Given the description of an element on the screen output the (x, y) to click on. 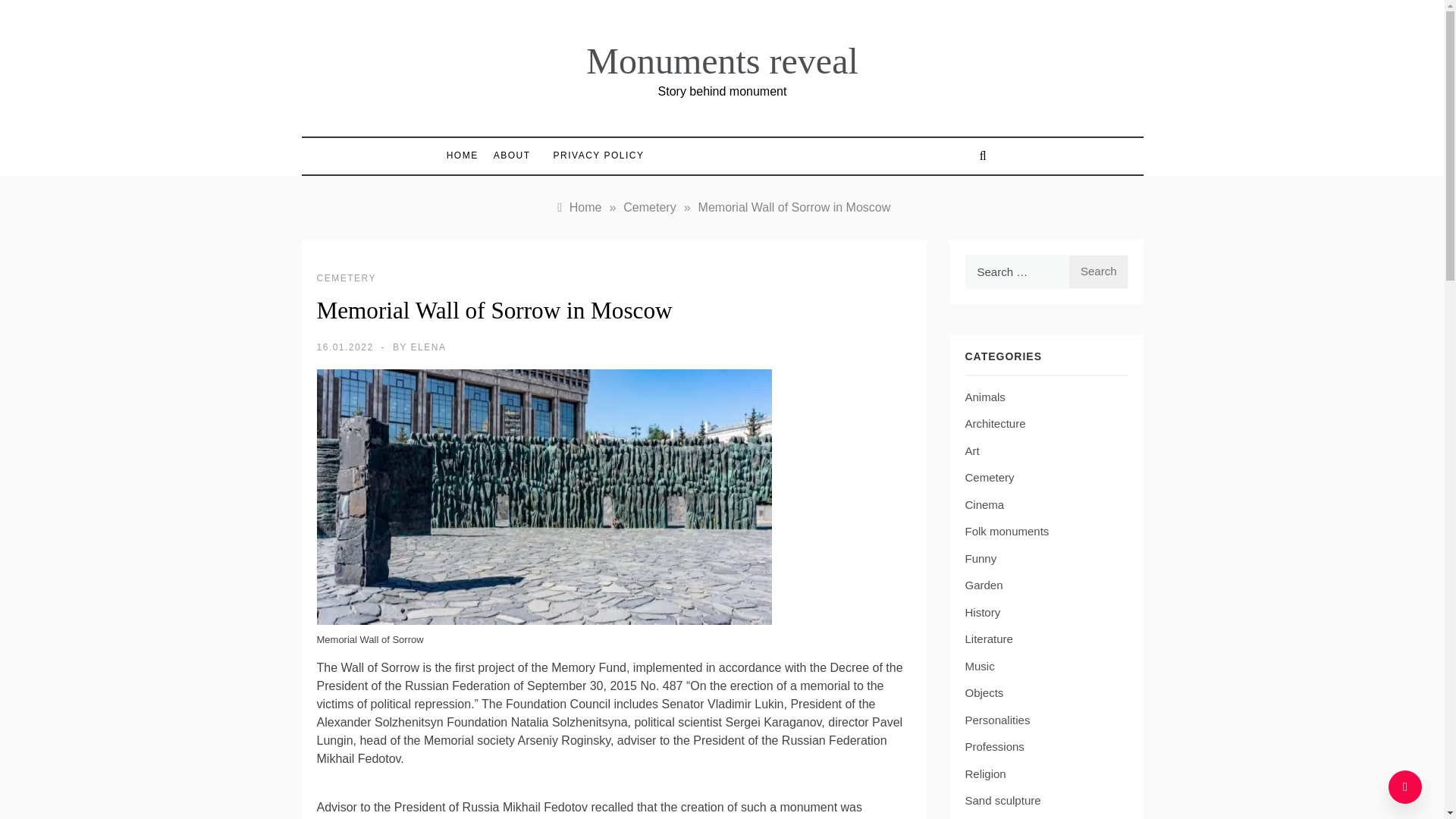
PRIVACY POLICY (591, 155)
Memorial Wall of Sorrow in Moscow (794, 206)
ABOUT (512, 155)
Search (1098, 271)
HOME (466, 155)
Architecture (994, 424)
Animals (983, 397)
Funny (979, 558)
Home (578, 206)
Cinema (983, 505)
